Given the description of an element on the screen output the (x, y) to click on. 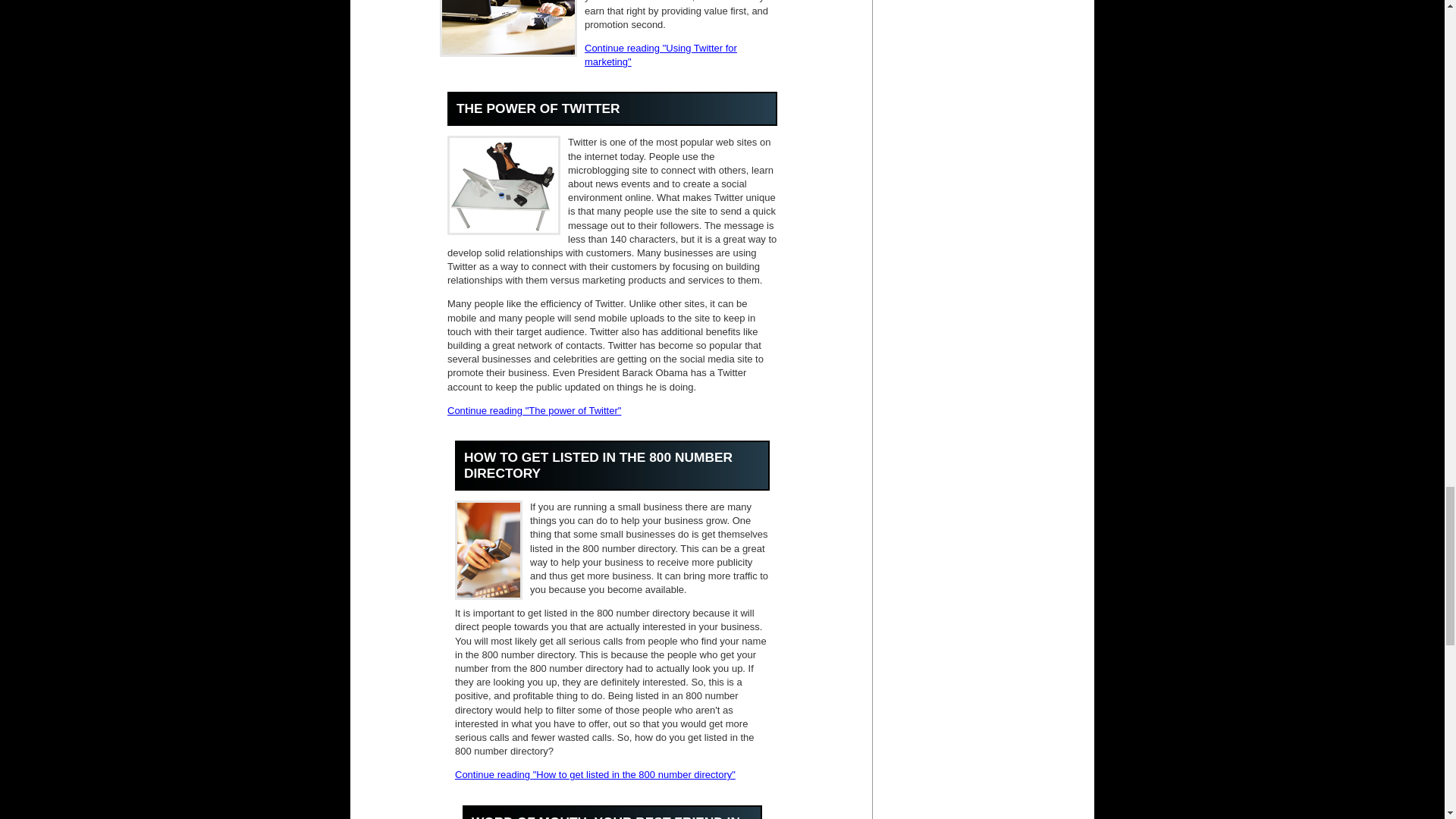
Continue reading "Using Twitter for marketing" (660, 54)
WORD OF MOUTH, YOUR BEST FRIEND IN MARKETING. (605, 816)
THE POWER OF TWITTER (538, 108)
Continue reading "The power of Twitter" (533, 410)
HOW TO GET LISTED IN THE 800 NUMBER DIRECTORY (598, 464)
